Given the description of an element on the screen output the (x, y) to click on. 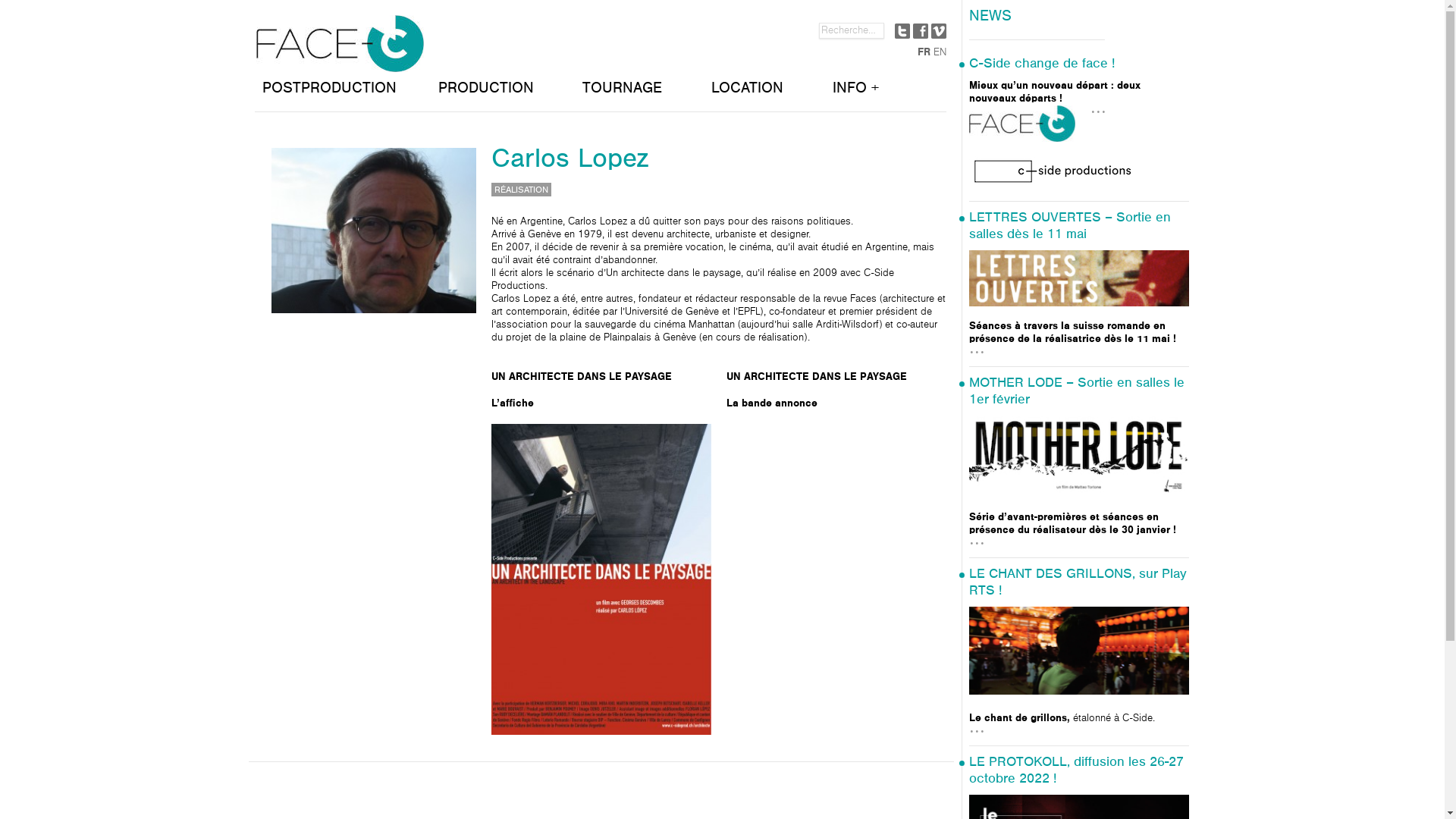
POSTPRODUCTION Element type: text (345, 91)
Carlos Lopez Element type: text (570, 158)
Un architecte dans le paysage Element type: hover (601, 578)
EN Element type: text (937, 52)
LE CHANT DES GRILLONS, sur Play RTS ! Element type: text (1077, 582)
FR Element type: text (922, 52)
TOURNAGE Element type: text (639, 91)
NEWS Element type: text (1036, 20)
Recherche Element type: text (29, 8)
C-Side change de face ! Element type: text (1041, 63)
LOCATION Element type: text (764, 91)
  Element type: text (938, 29)
INFO + Element type: text (885, 91)
  Element type: text (920, 29)
FACE-C Element type: hover (339, 63)
PRODUCTION Element type: text (502, 91)
Carlos Lopez Element type: hover (381, 230)
LE PROTOKOLL, diffusion les 26-27 octobre 2022 ! Element type: text (1076, 770)
  Element type: text (902, 29)
